Given the description of an element on the screen output the (x, y) to click on. 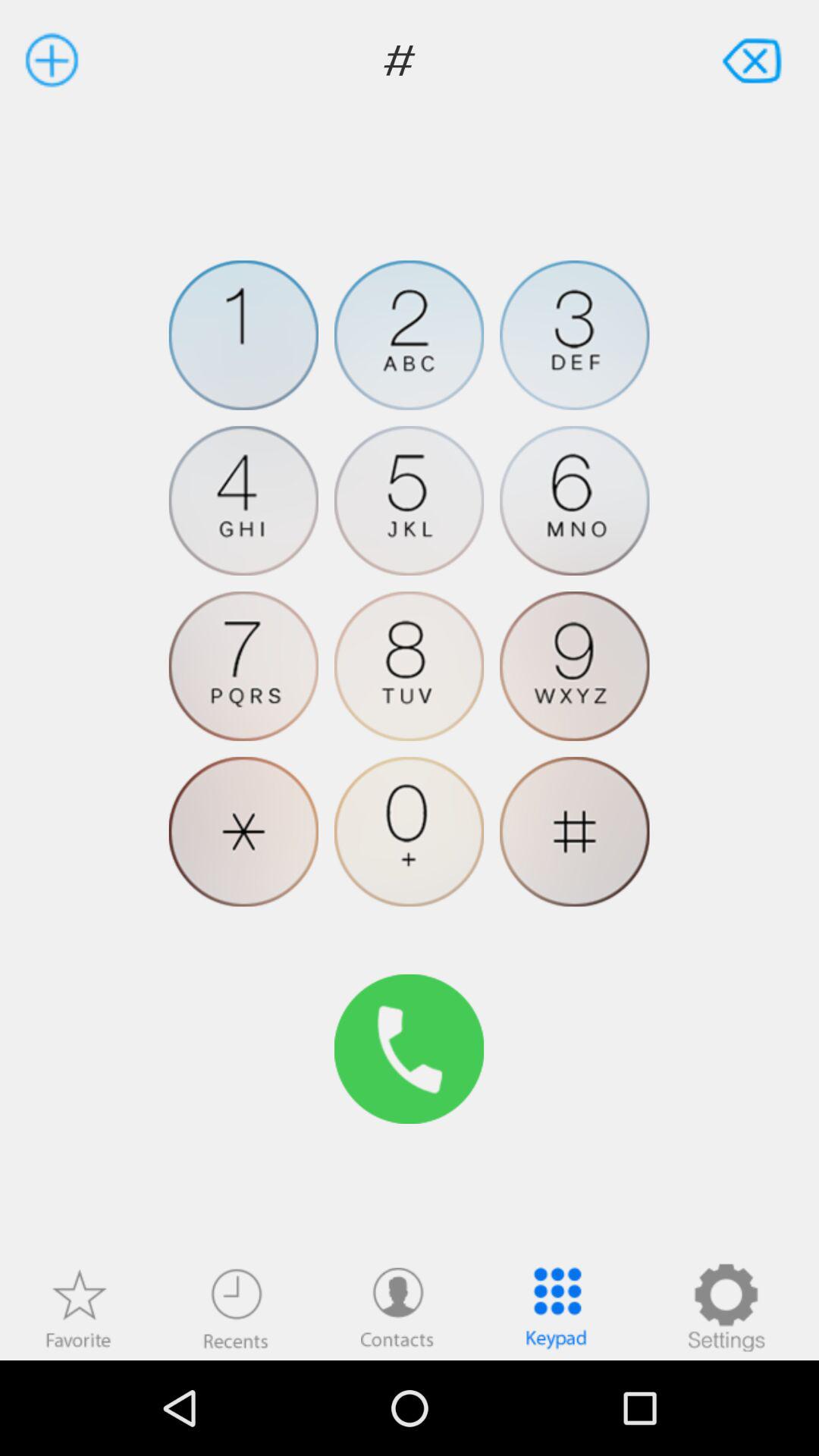
dial zero (409, 831)
